Given the description of an element on the screen output the (x, y) to click on. 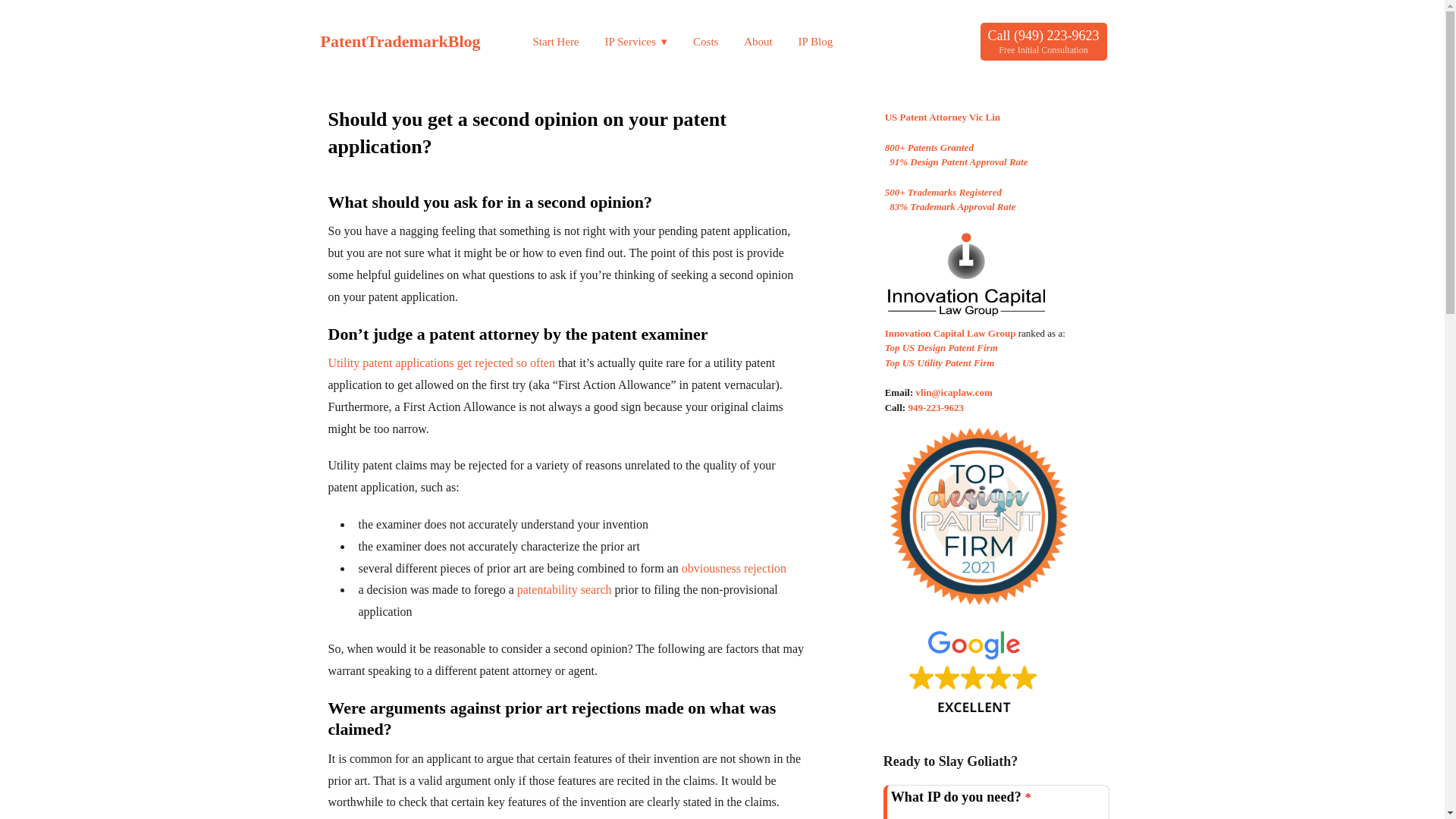
patentability search (563, 589)
US Patent Attorney Vic Lin (942, 116)
949-223-9623 (935, 407)
obviousness rejection (733, 567)
Start Your Patent or Trademark App Here (555, 41)
Utility patent applications get rejected so often (440, 362)
Costs (705, 41)
Top US Utility Patent Firm (939, 362)
Start Here (555, 41)
About (758, 41)
